Given the description of an element on the screen output the (x, y) to click on. 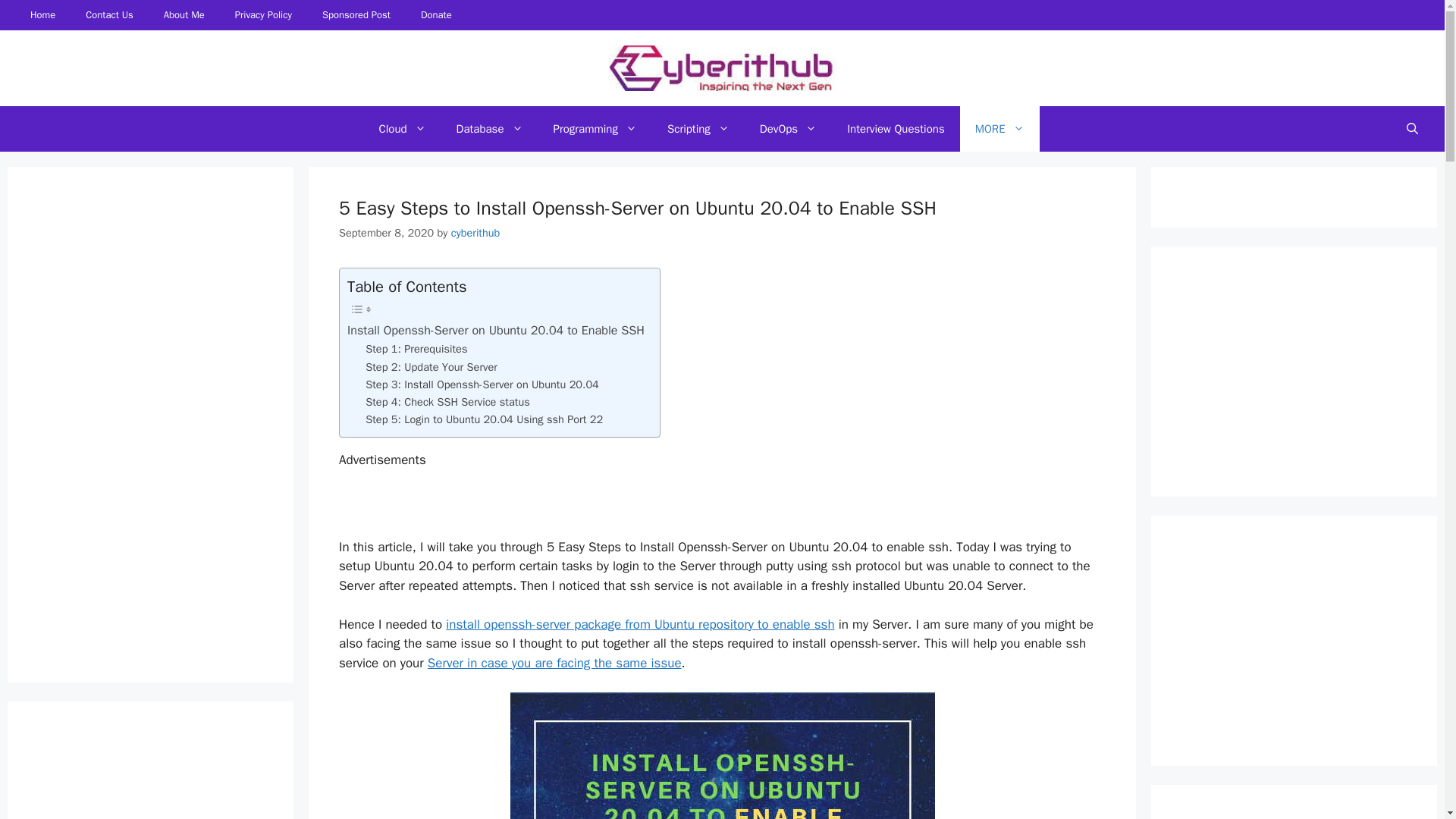
Step 5: Login to Ubuntu 20.04 Using ssh Port 22 (483, 419)
Programming (595, 128)
Privacy Policy (263, 15)
Step 1: Prerequisites (416, 348)
Database (489, 128)
Scripting (698, 128)
Home (41, 15)
About Me (183, 15)
DevOps (787, 128)
Step 3: Install Openssh-Server on Ubuntu 20.04 (481, 384)
